Given the description of an element on the screen output the (x, y) to click on. 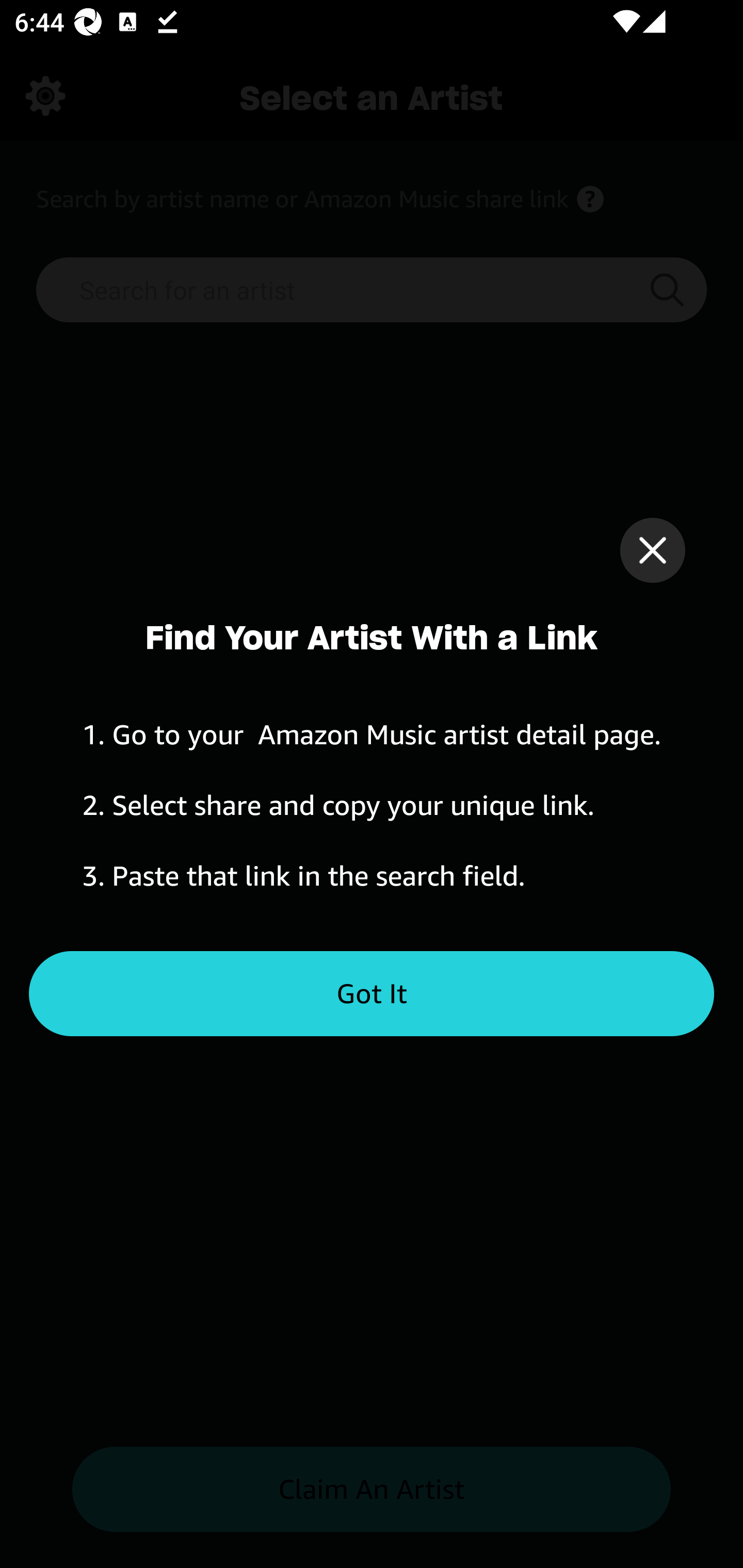
Generic_dismiss  icon (652, 550)
Got it button Got It (371, 993)
